Given the description of an element on the screen output the (x, y) to click on. 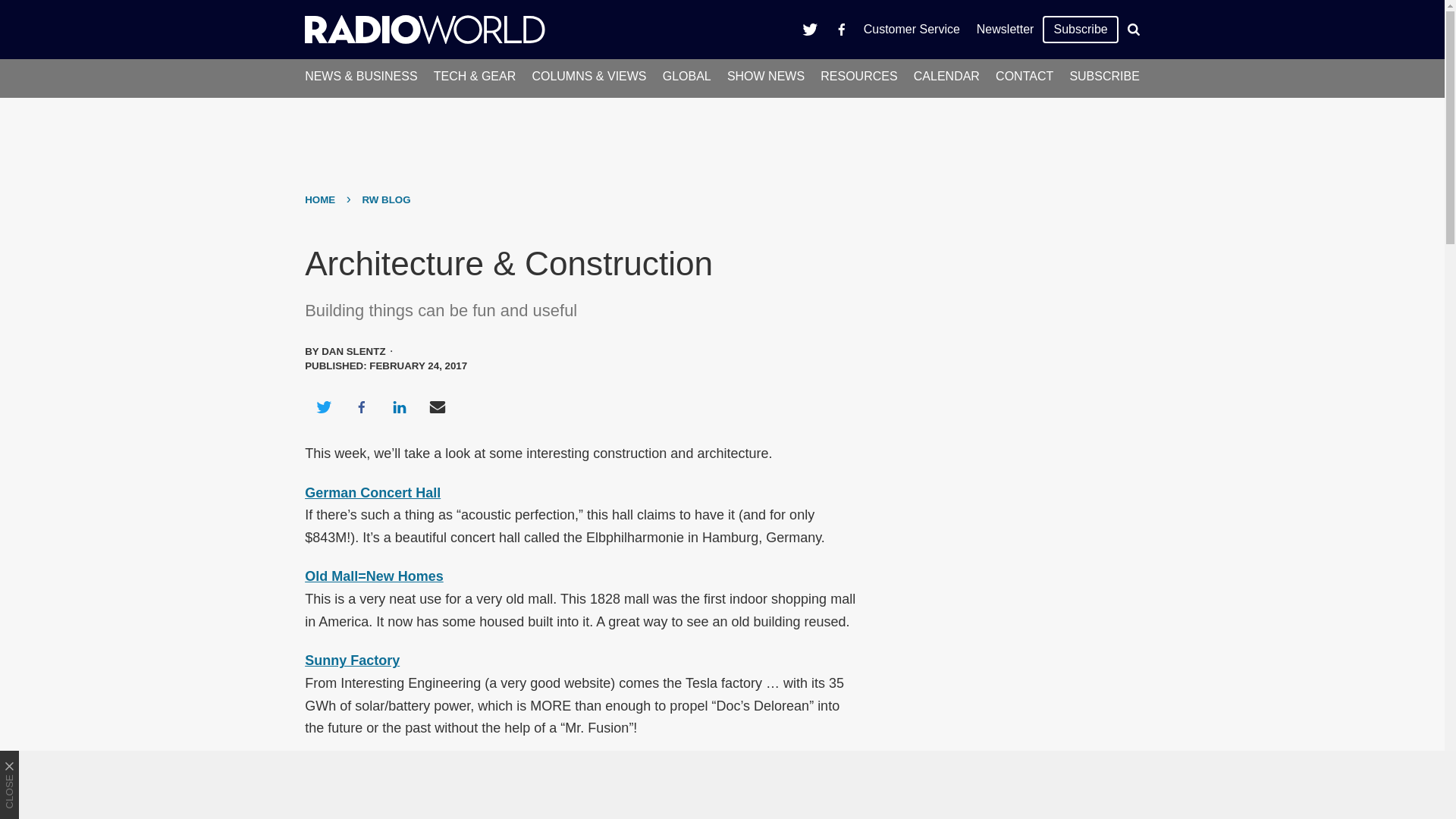
Share on Facebook (361, 406)
Share on Twitter (323, 406)
Share via Email (438, 406)
Customer Service (912, 29)
Share on LinkedIn (399, 406)
